Given the description of an element on the screen output the (x, y) to click on. 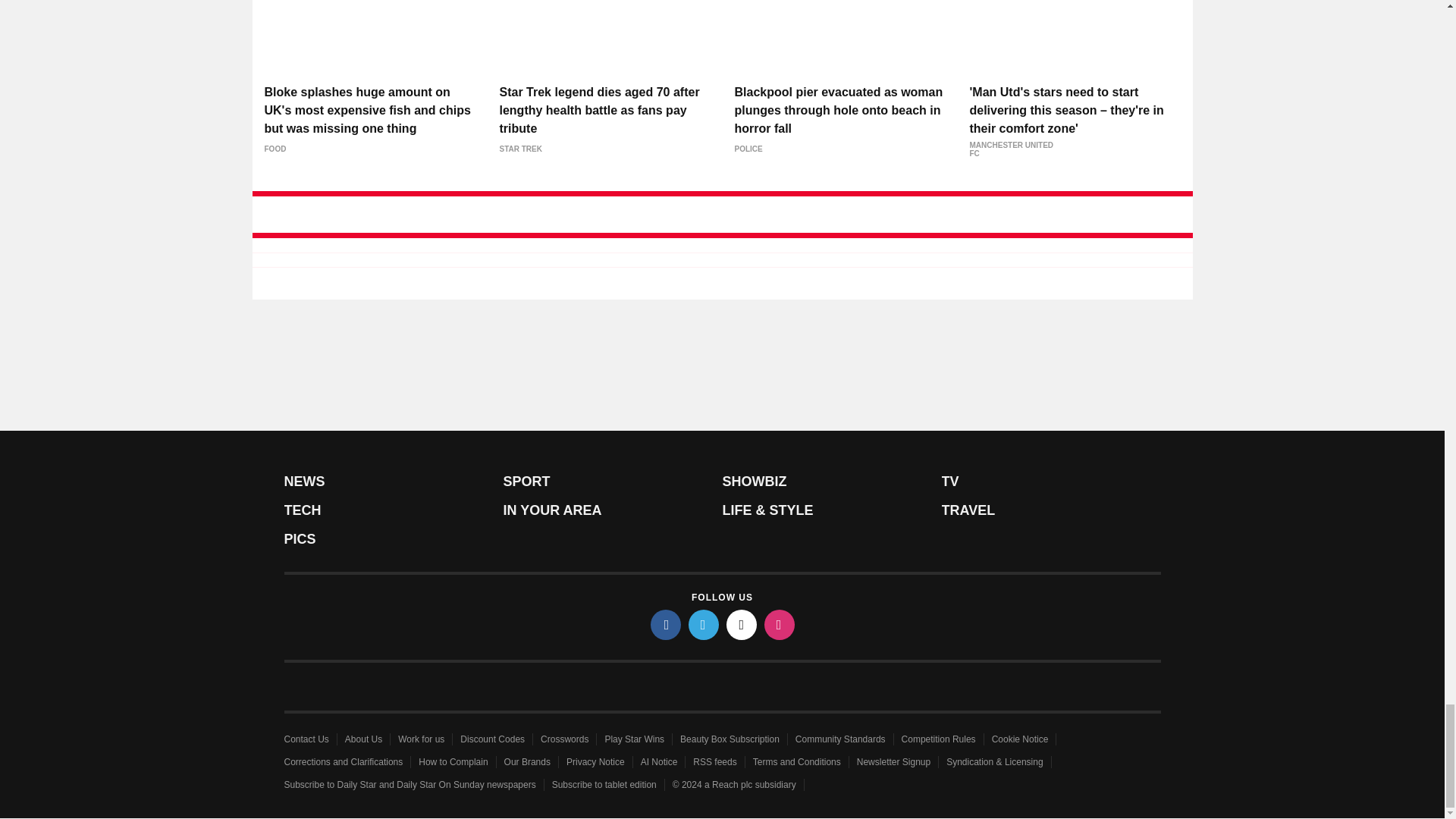
twitter (703, 624)
instagram (779, 624)
tiktok (741, 624)
facebook (665, 624)
